Given the description of an element on the screen output the (x, y) to click on. 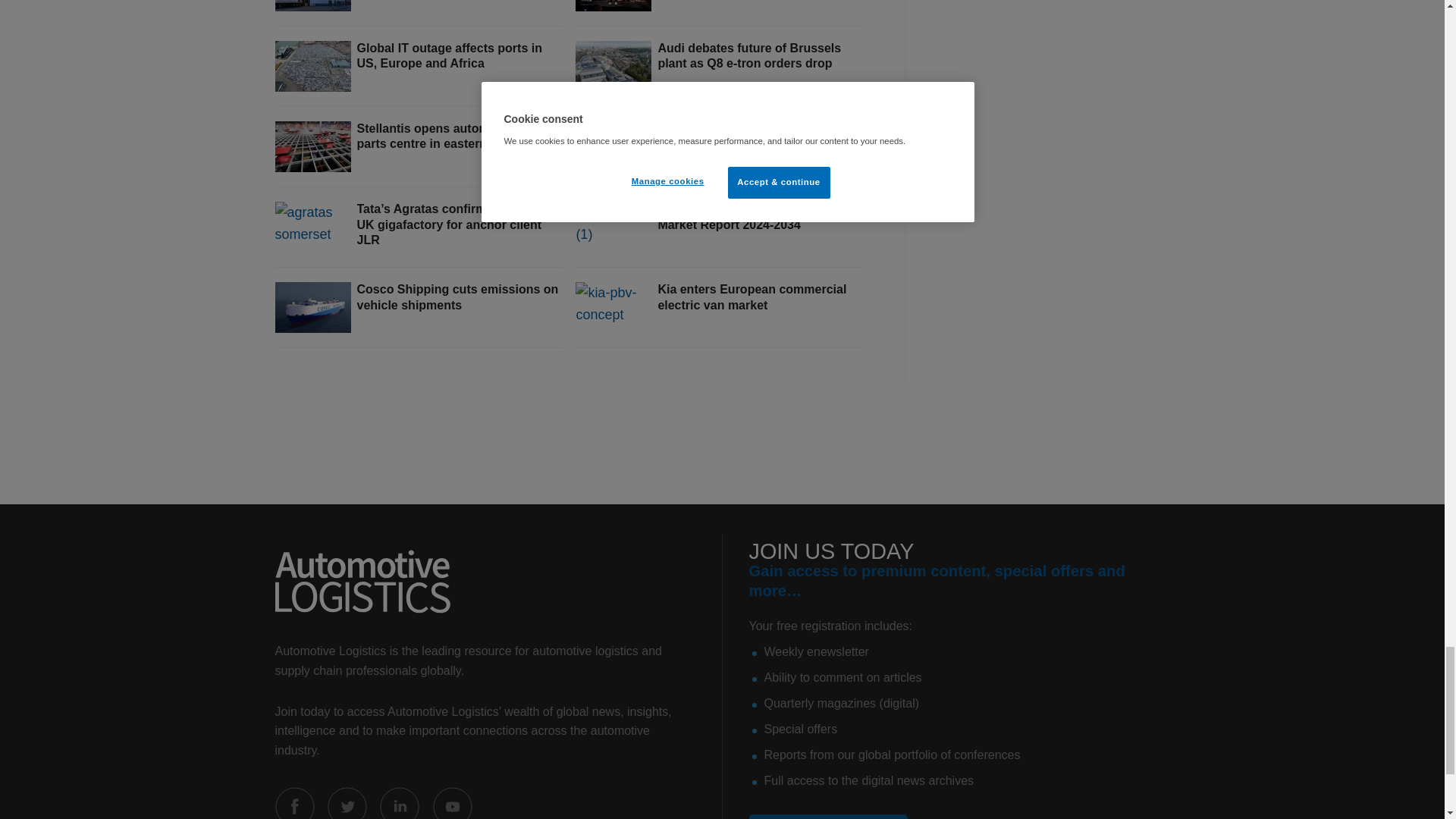
Connect with us on Youtube (451, 803)
Connect with us on Linked In (399, 803)
Connect with us on Twitter (346, 803)
Connect with us on Facebook (294, 803)
